Given the description of an element on the screen output the (x, y) to click on. 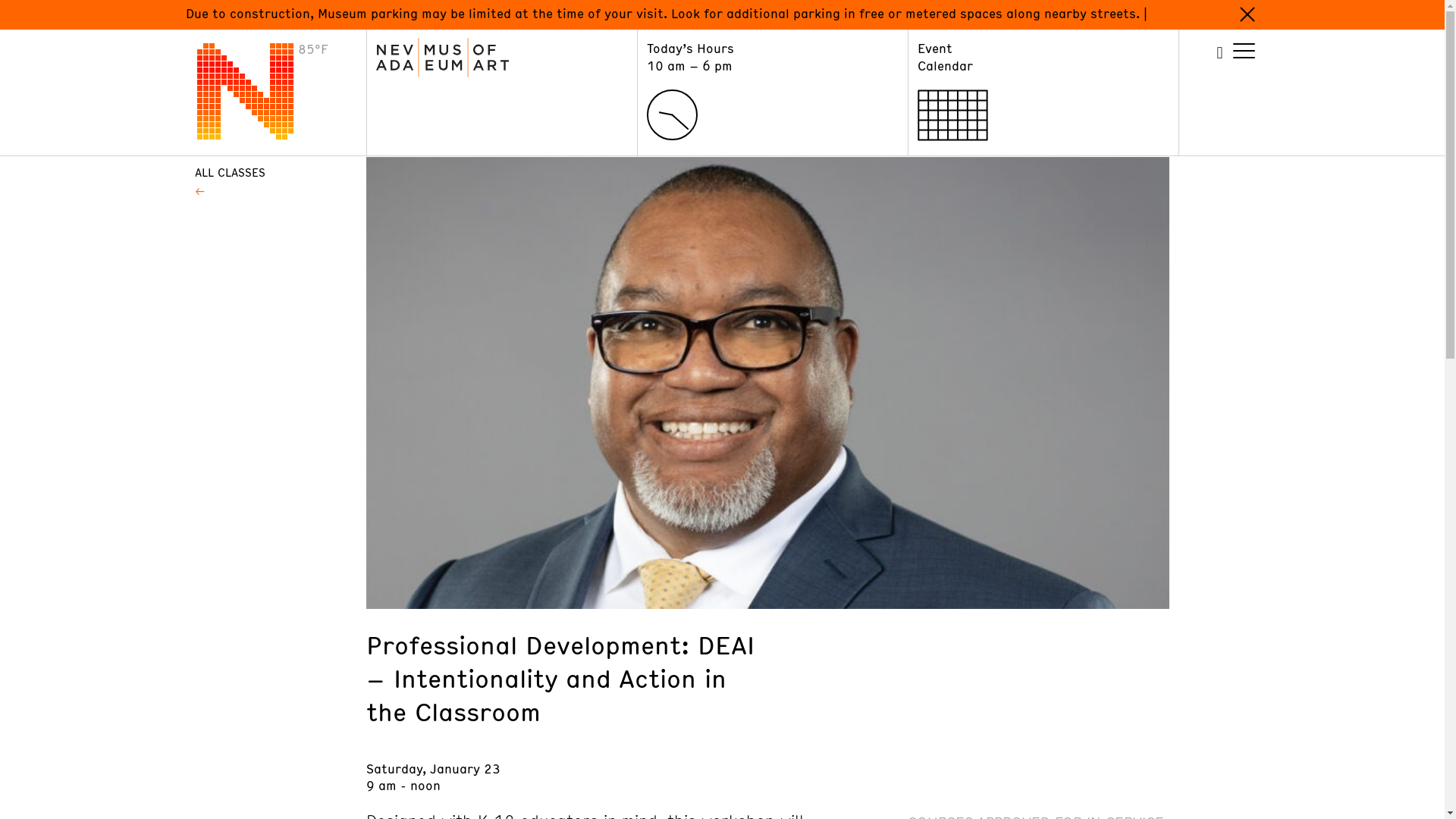
ALL CLASSES (270, 172)
